Given the description of an element on the screen output the (x, y) to click on. 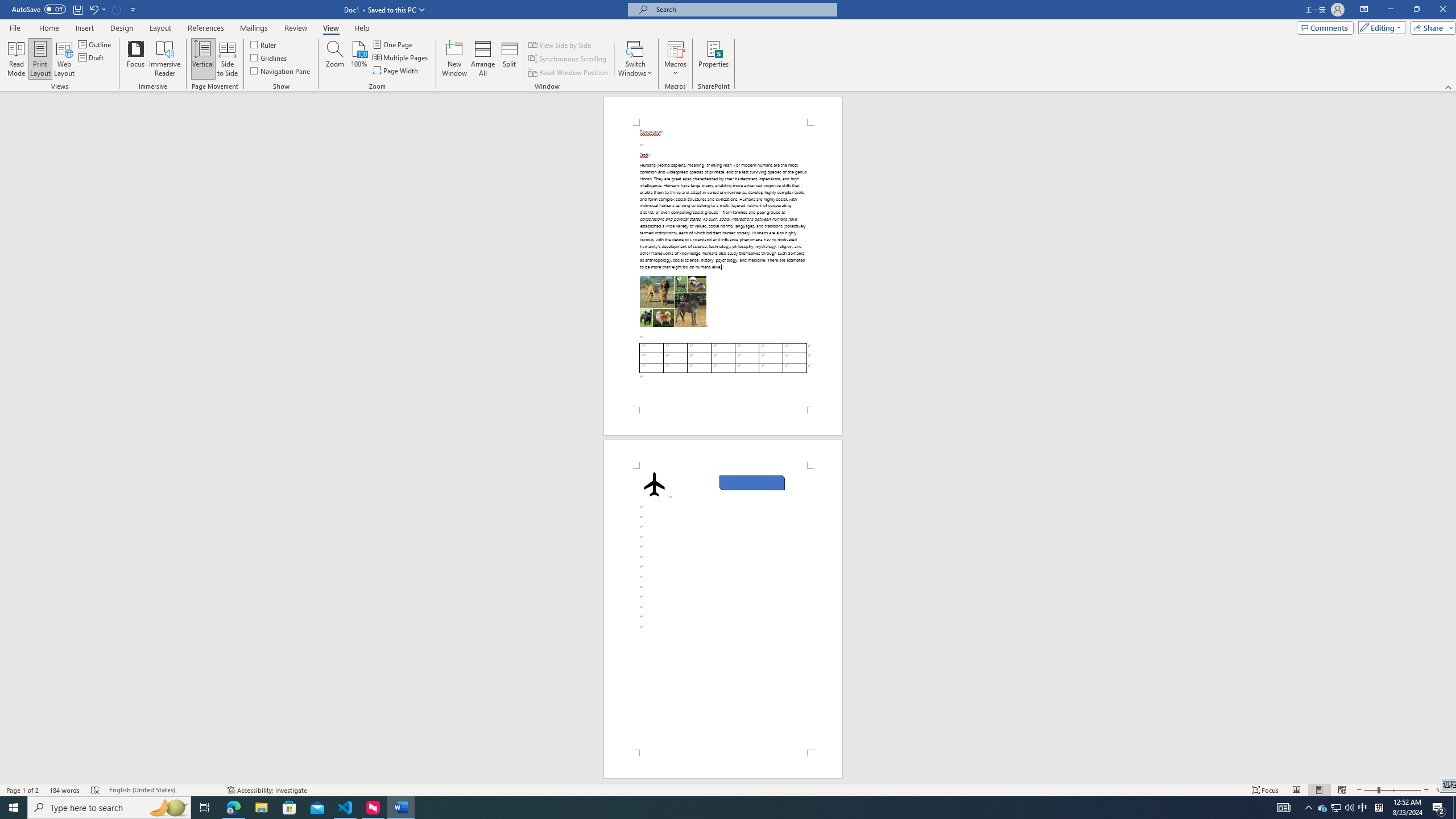
Page Width (396, 69)
Split (509, 58)
Undo Apply Quick Style Set (96, 9)
View Macros (675, 48)
100% (358, 58)
Gridlines (269, 56)
Outline (95, 44)
Class: MsoCommandBar (728, 45)
Zoom 53% (1443, 790)
